Given the description of an element on the screen output the (x, y) to click on. 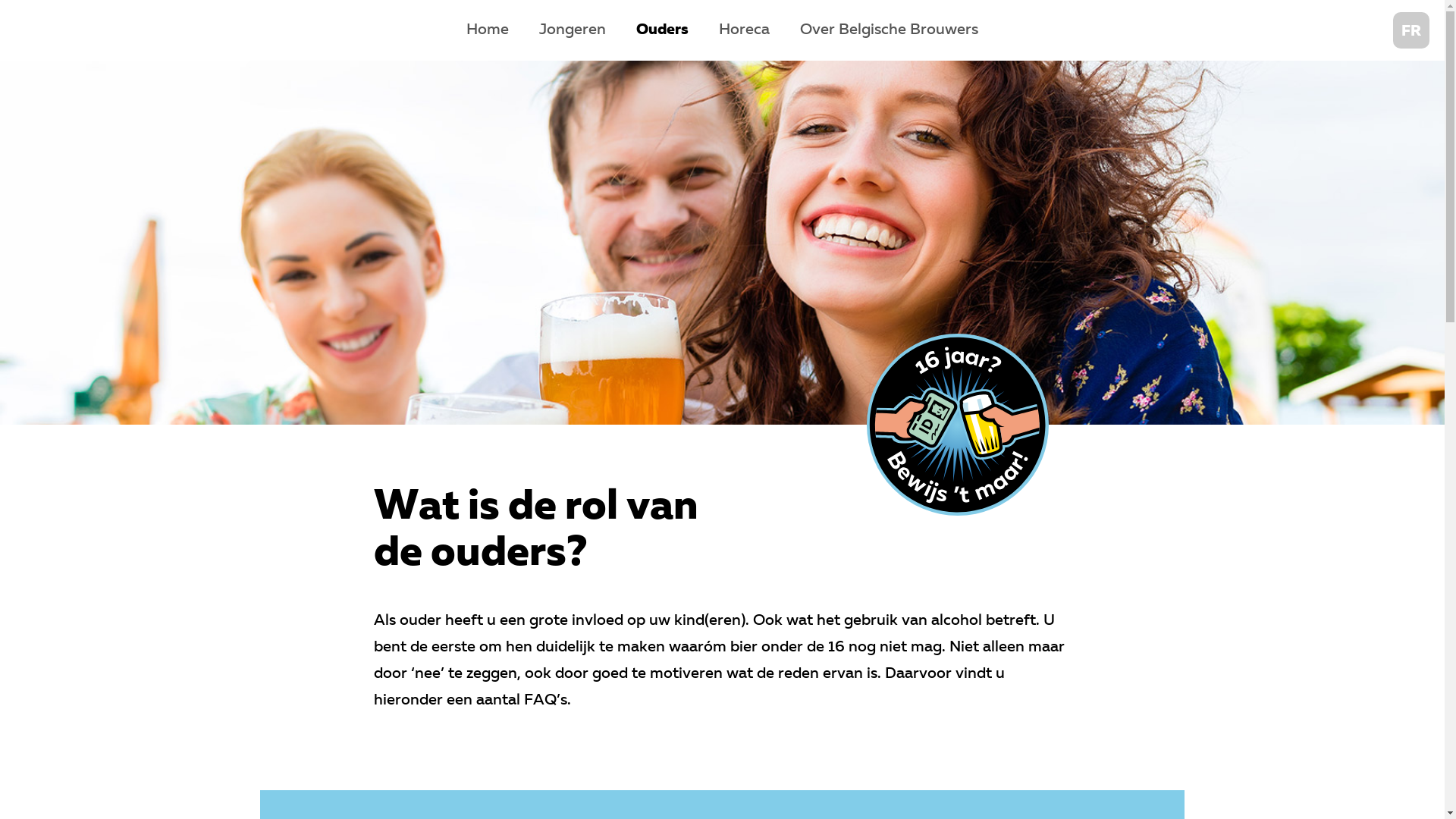
Over Belgische Brouwers Element type: text (889, 29)
Ouders Element type: text (662, 29)
Jongeren Element type: text (572, 29)
Home Element type: text (487, 29)
Horeca Element type: text (743, 29)
FR Element type: text (1411, 30)
